Given the description of an element on the screen output the (x, y) to click on. 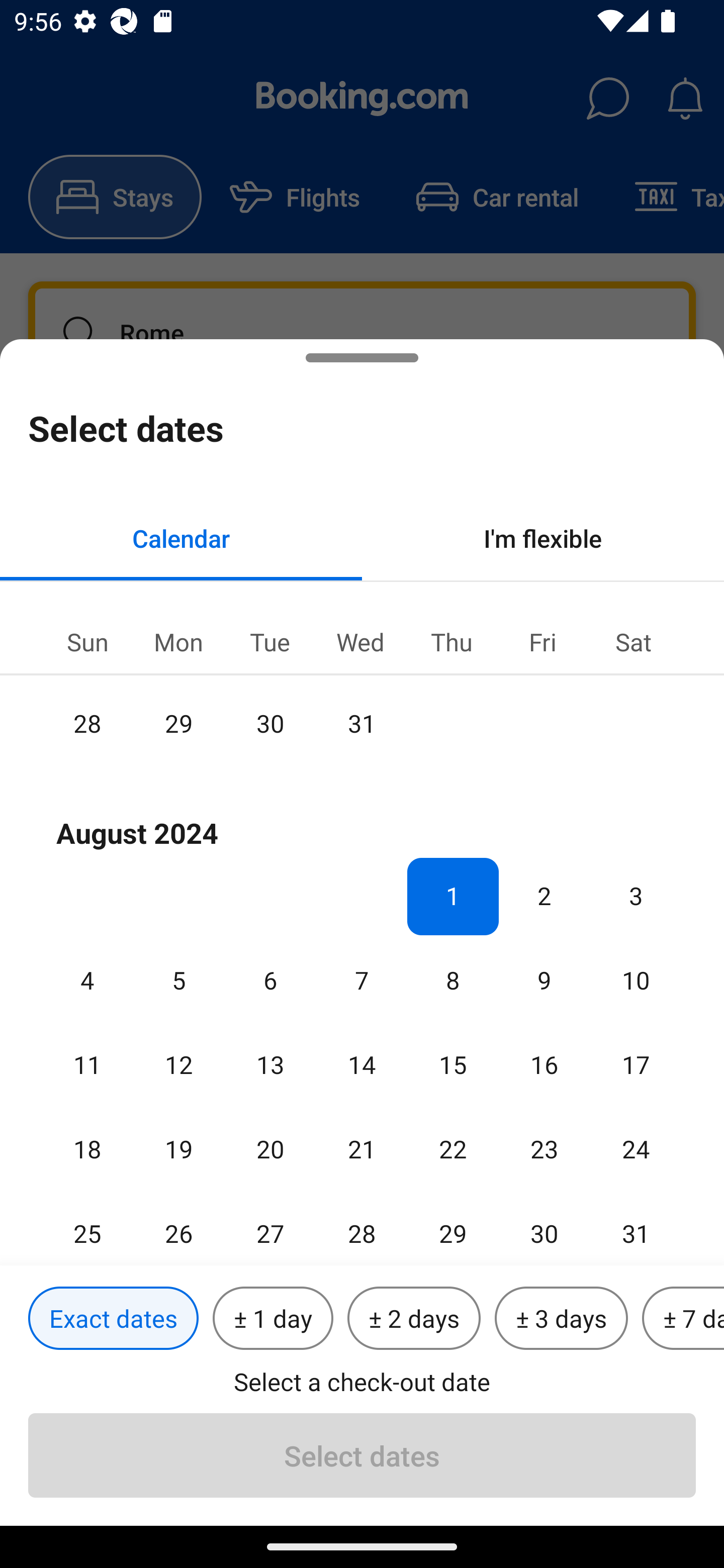
I'm flexible (543, 537)
Exact dates (113, 1318)
± 1 day (272, 1318)
± 2 days (413, 1318)
± 3 days (560, 1318)
± 7 days (683, 1318)
Select dates (361, 1454)
